Given the description of an element on the screen output the (x, y) to click on. 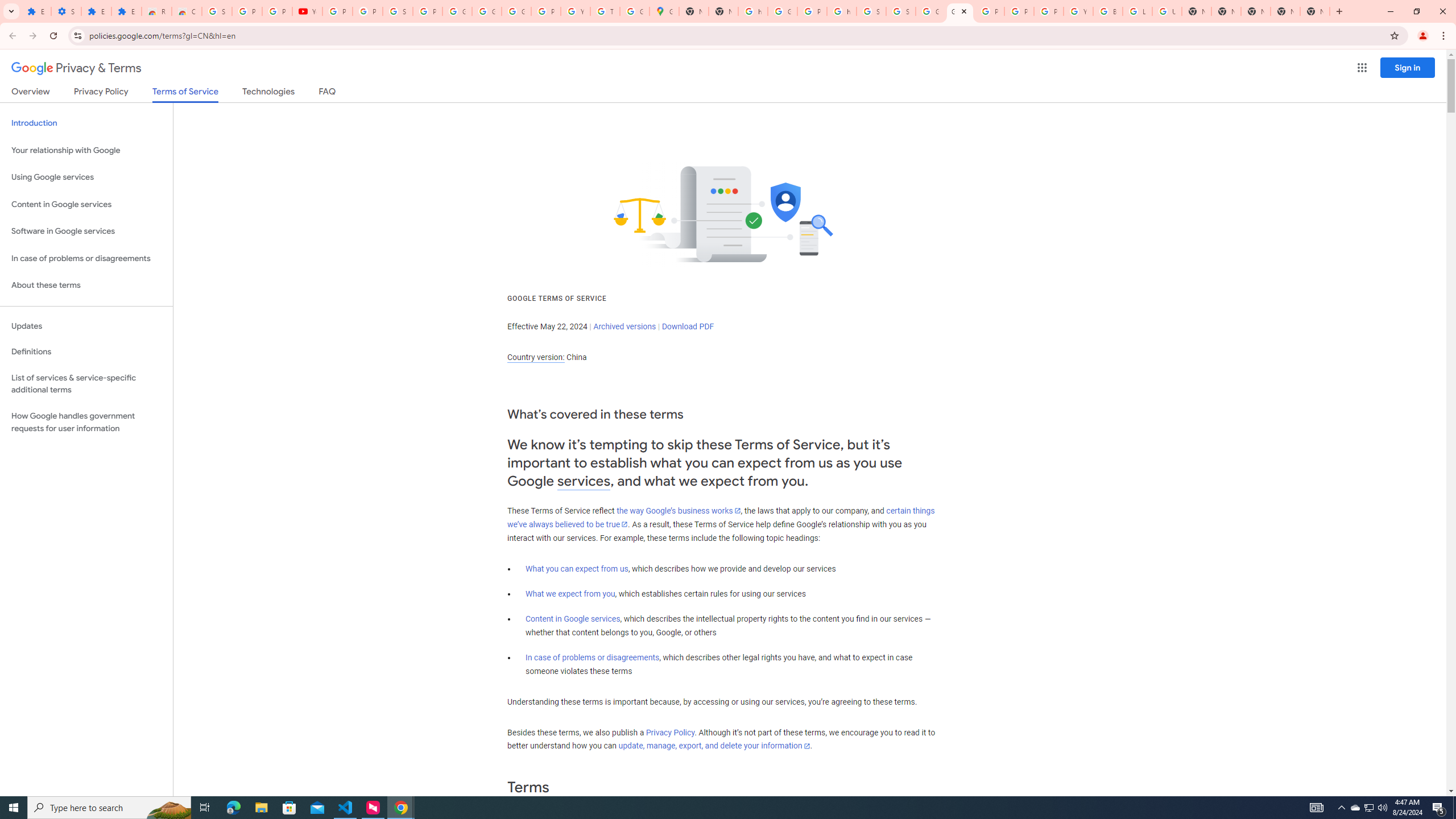
New Tab (1255, 11)
Sign in - Google Accounts (397, 11)
Sign in - Google Accounts (216, 11)
YouTube (575, 11)
